Given the description of an element on the screen output the (x, y) to click on. 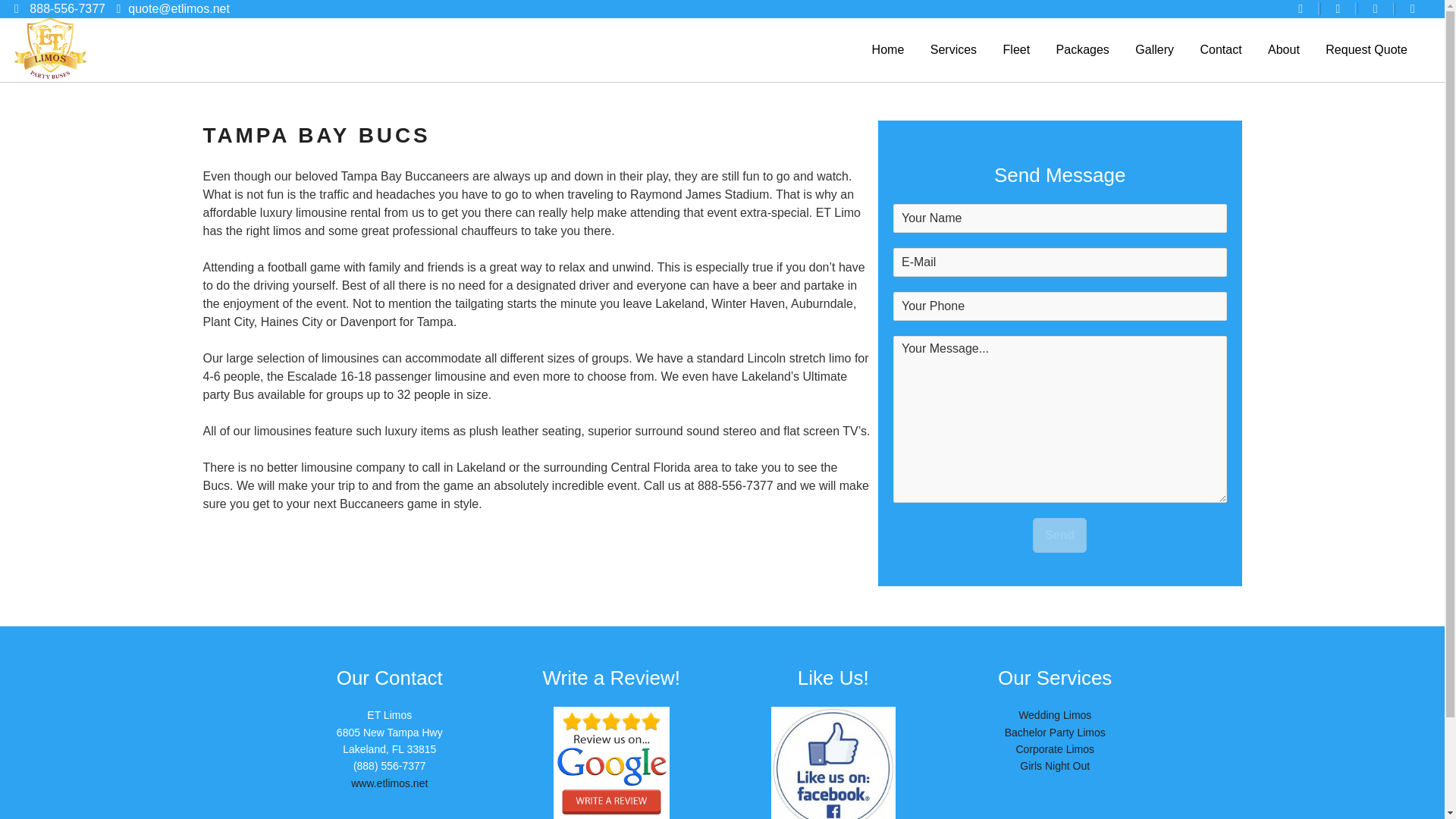
888-556-7377 (66, 8)
Fleet (1016, 49)
Services (953, 49)
Home (888, 49)
